Given the description of an element on the screen output the (x, y) to click on. 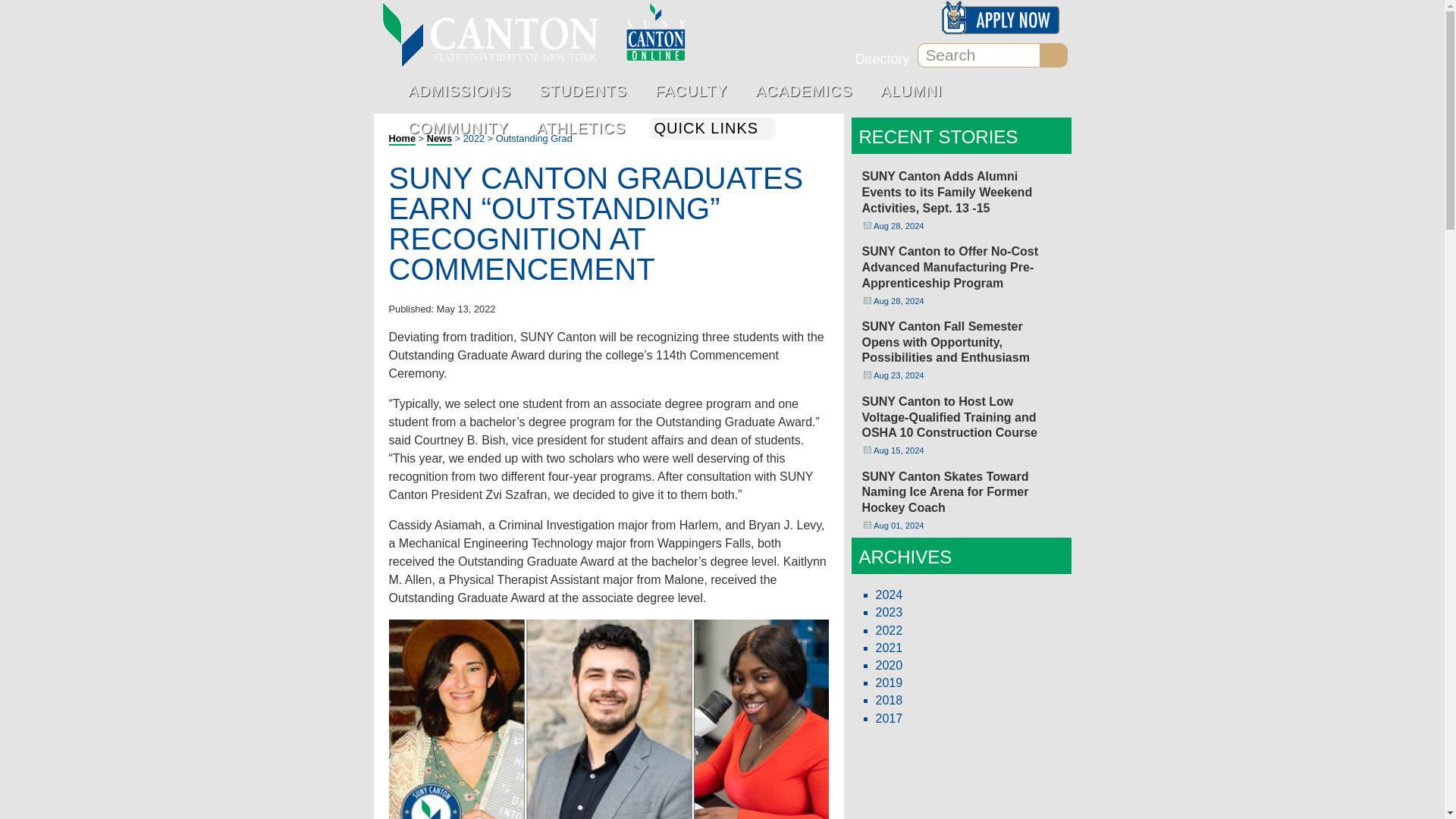
Search (1055, 55)
Search (979, 55)
Search (979, 55)
Directory (881, 58)
